Given the description of an element on the screen output the (x, y) to click on. 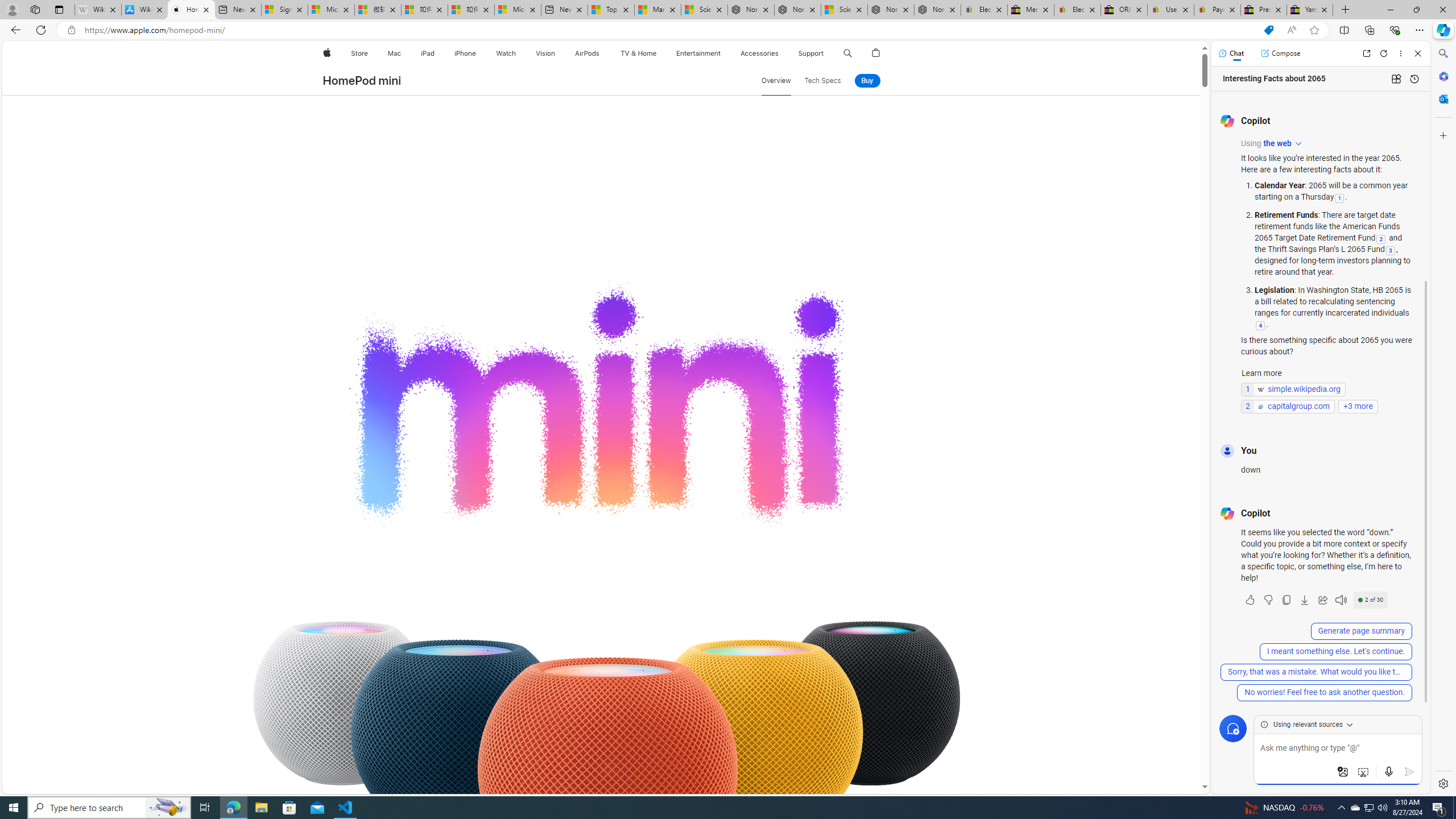
iPhone (464, 53)
Support (810, 53)
Accessories menu (780, 53)
Mac (394, 53)
Apple (325, 53)
iPad (427, 53)
